Given the description of an element on the screen output the (x, y) to click on. 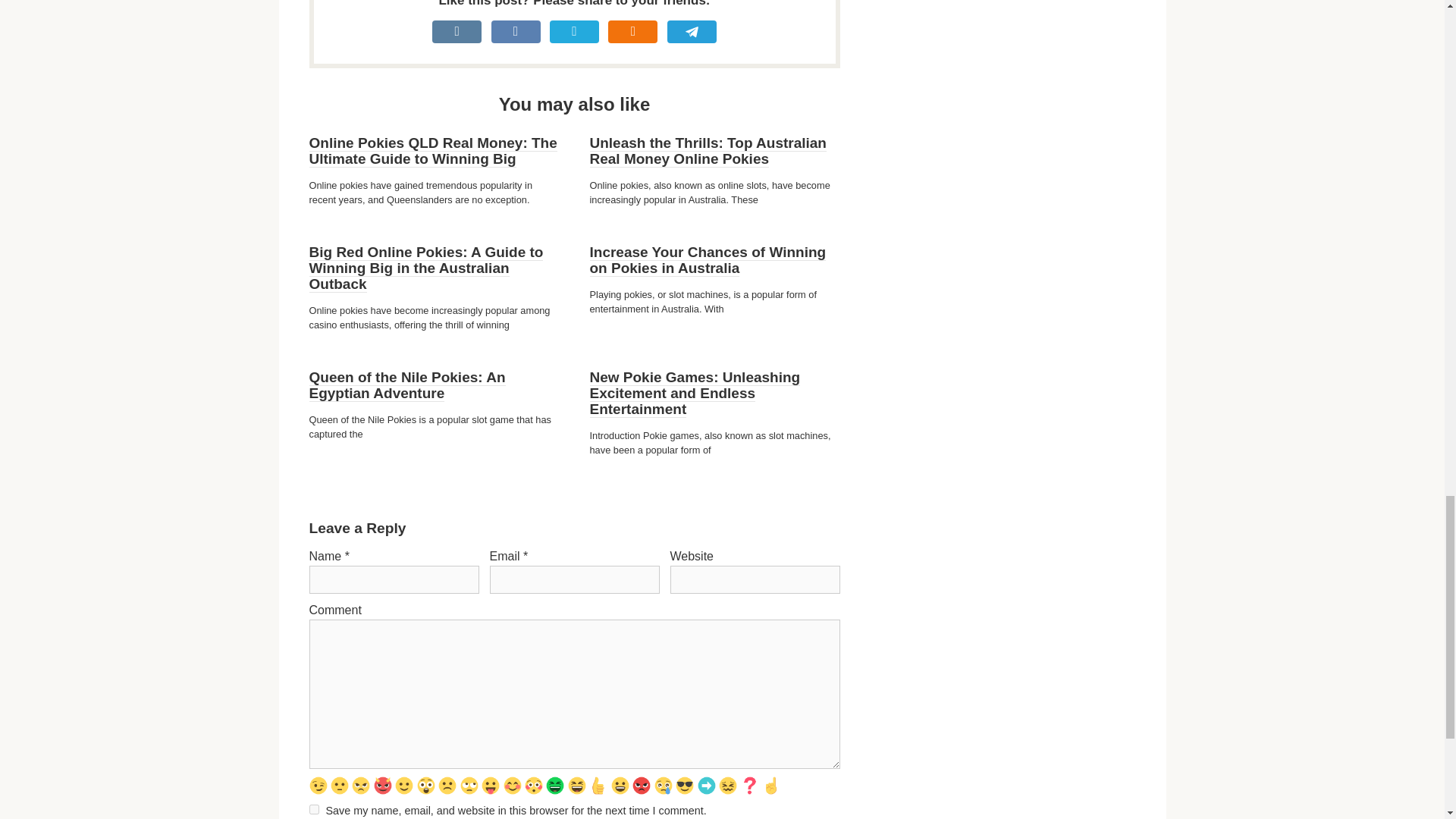
Queen of the Nile Pokies: An Egyptian Adventure (406, 385)
yes (313, 808)
Increase Your Chances of Winning on Pokies in Australia (708, 260)
Unleash the Thrills: Top Australian Real Money Online Pokies (708, 151)
